Given the description of an element on the screen output the (x, y) to click on. 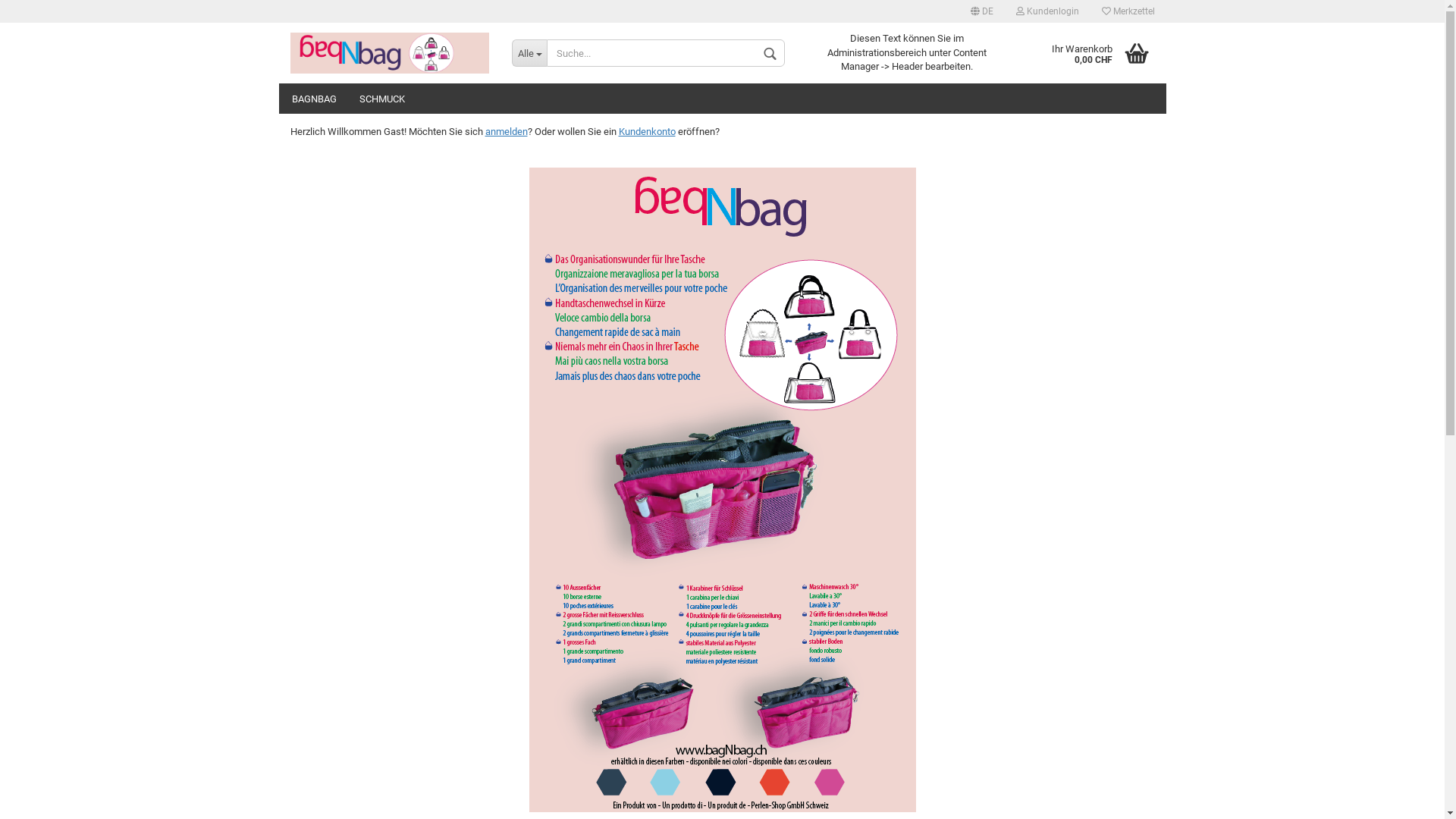
Anmelden Element type: text (964, 185)
 Merkzettel Element type: text (1128, 11)
DE Element type: text (981, 11)
Speichern Element type: text (898, 180)
Alle Element type: text (528, 52)
 Kundenlogin Element type: text (1046, 11)
anmelden Element type: text (506, 131)
BAGNBAG Element type: text (314, 98)
Ihr Warenkorb
0,00 CHF Element type: text (1091, 52)
Kundenkonto Element type: text (646, 131)
SCHMUCK Element type: text (381, 98)
bagNbag.ch Element type: hover (389, 52)
